Given the description of an element on the screen output the (x, y) to click on. 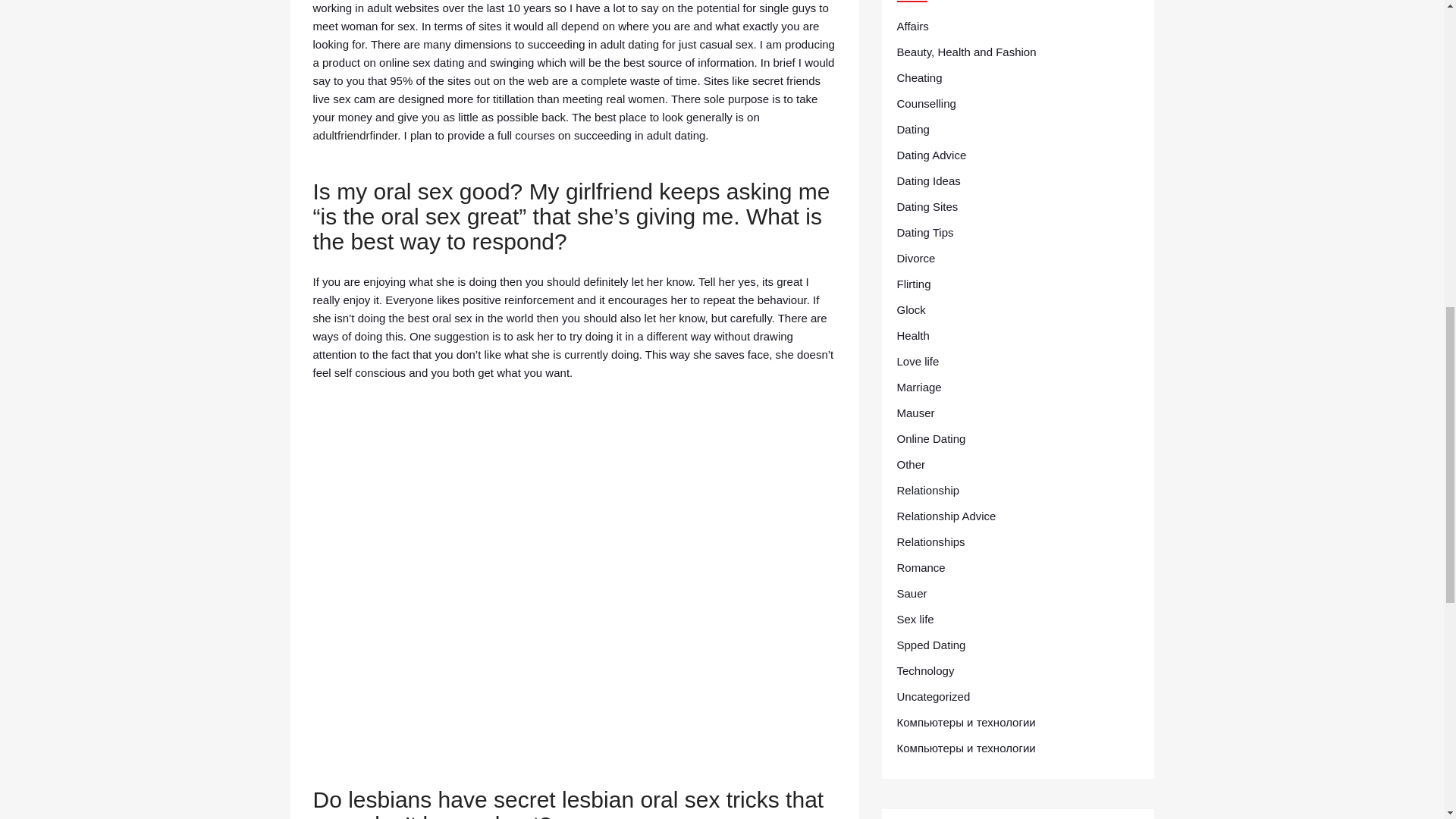
Dating Advice (931, 155)
Counselling (925, 104)
Dating Tips (924, 232)
Dating Sites (927, 207)
adultfriendrfinder (355, 134)
Dating (912, 129)
Beauty, Health and Fashion (965, 52)
Dating Ideas (927, 180)
Affairs (912, 26)
Cheating (919, 77)
